Given the description of an element on the screen output the (x, y) to click on. 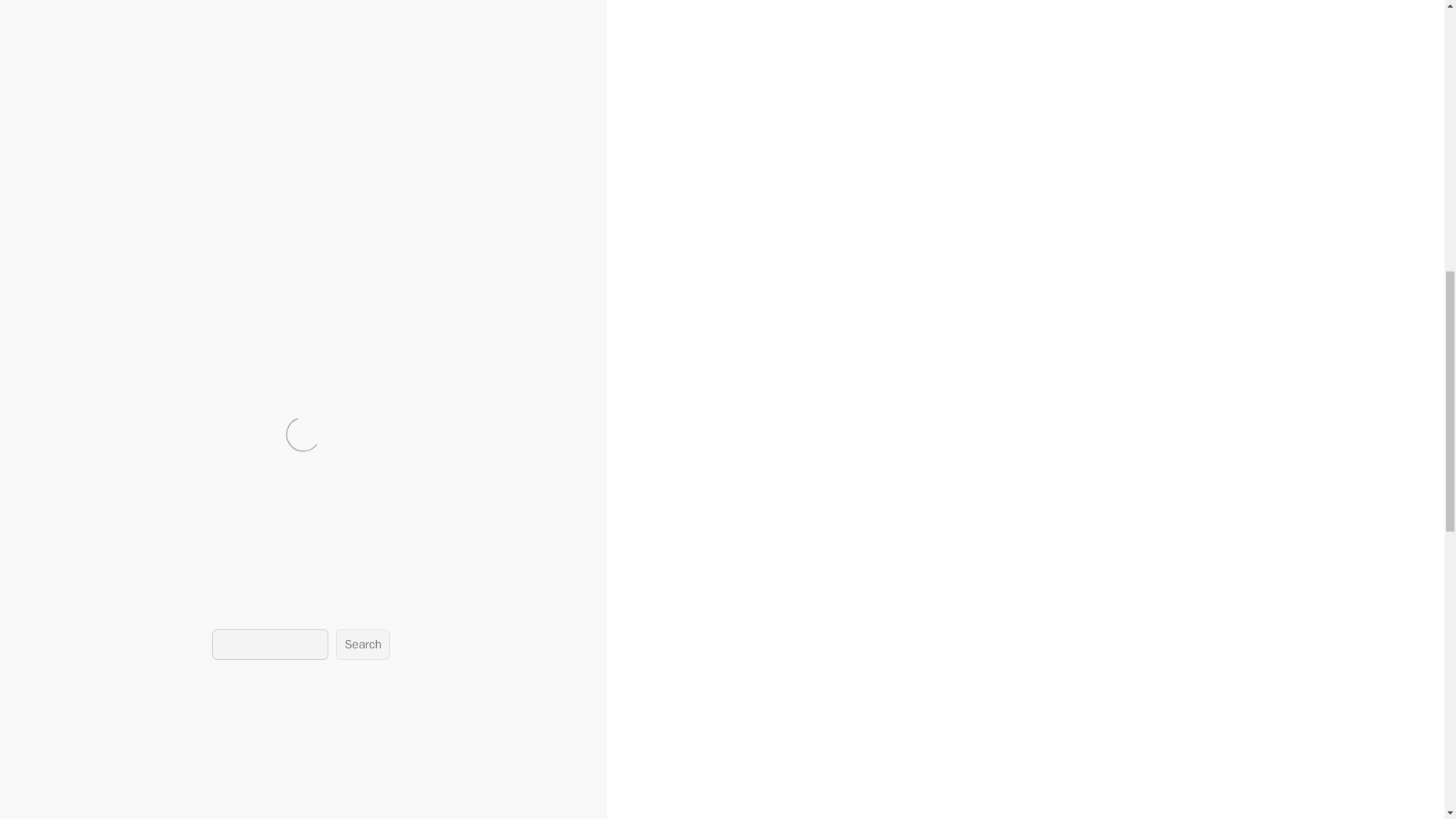
demo slot pg (274, 522)
Previous: What is a Lottery? (81, 555)
Rahasia Kemenangan Bermain Demo Slot Olympus (95, 672)
demo slot pg soft (362, 522)
pg soft (434, 522)
Gambling (85, 522)
Next: How to Find the Best Casino Online (116, 572)
pg soft demo (496, 522)
Search (363, 644)
demo pg soft (197, 522)
Sejarah dan Prestasi Saba Sport di Indonesia (100, 706)
pgsoft (553, 522)
